Given the description of an element on the screen output the (x, y) to click on. 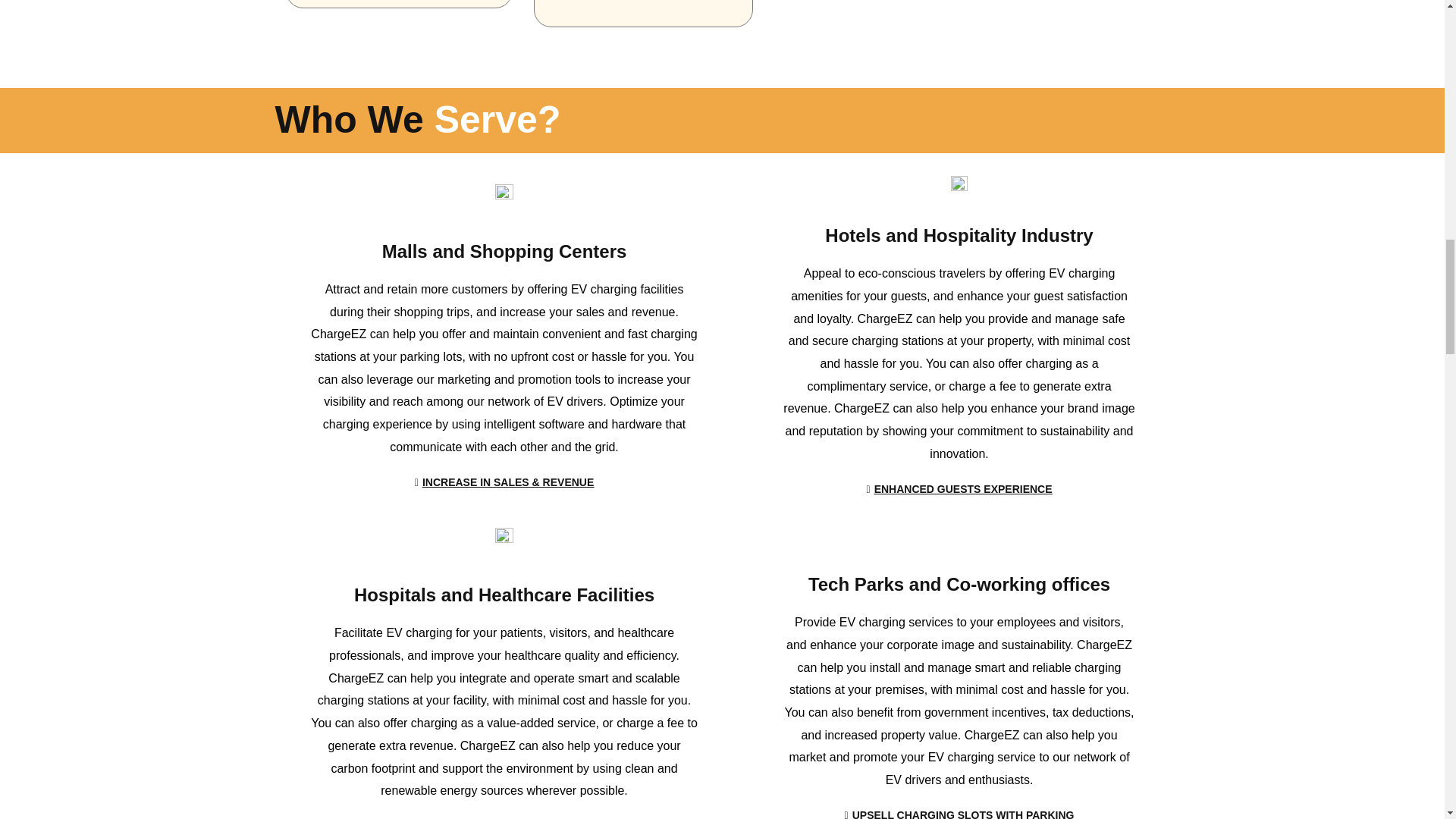
ENHANCED GUESTS EXPERIENCE (958, 489)
UPSELL CHARGING SLOTS WITH PARKING (959, 808)
NO QUEUES FOR DOCTORS AND PATEINTS (503, 814)
